Given the description of an element on the screen output the (x, y) to click on. 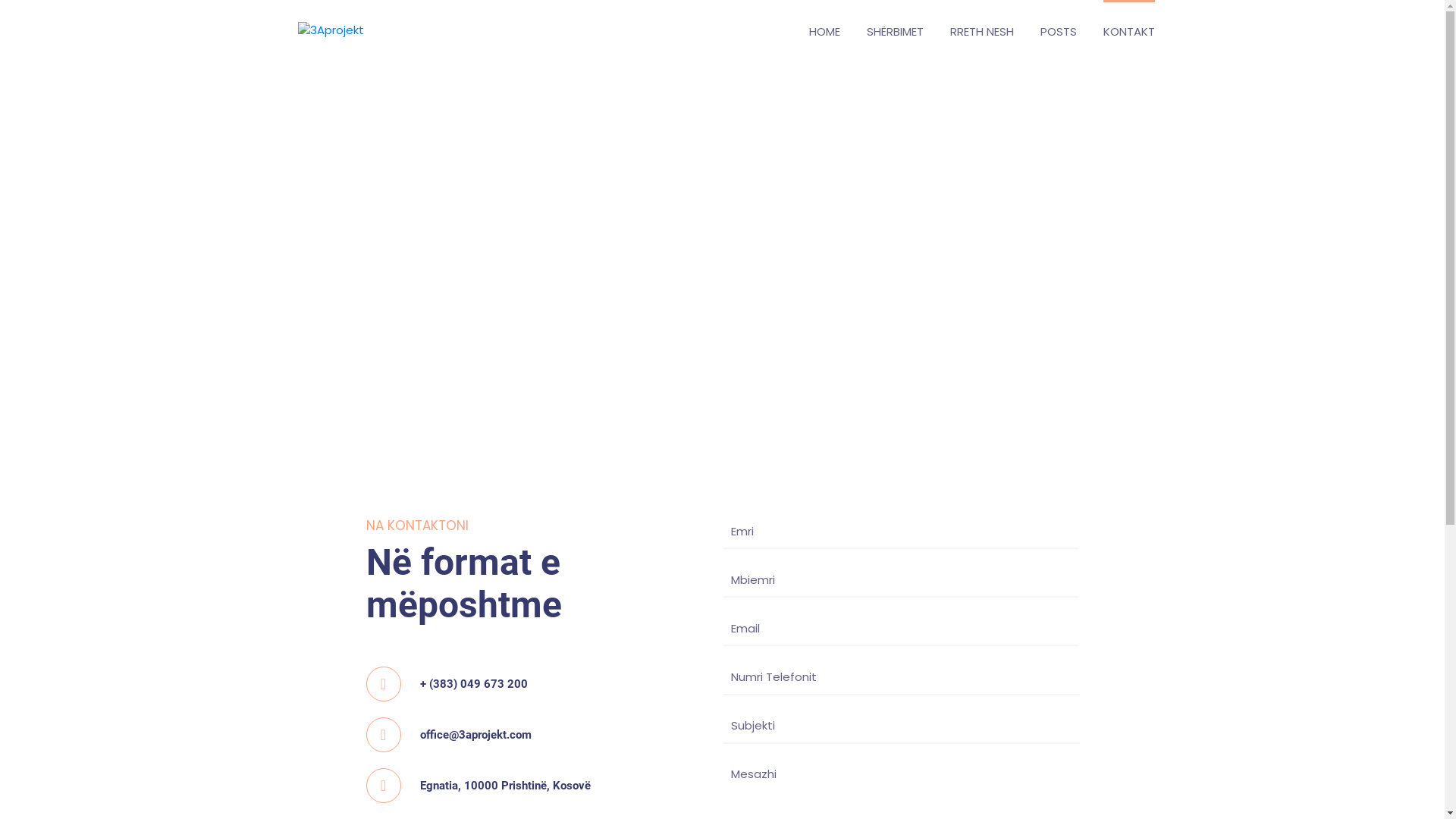
POSTS Element type: text (1058, 30)
office@3aprojekt.com Element type: text (475, 734)
HOME Element type: text (823, 30)
+ (383) 049 673 200 Element type: text (473, 683)
RRETH NESH Element type: text (981, 30)
Egnatia, 10000 Pristina, Kosovo Element type: hover (722, 287)
KONTAKT Element type: text (1128, 30)
